Given the description of an element on the screen output the (x, y) to click on. 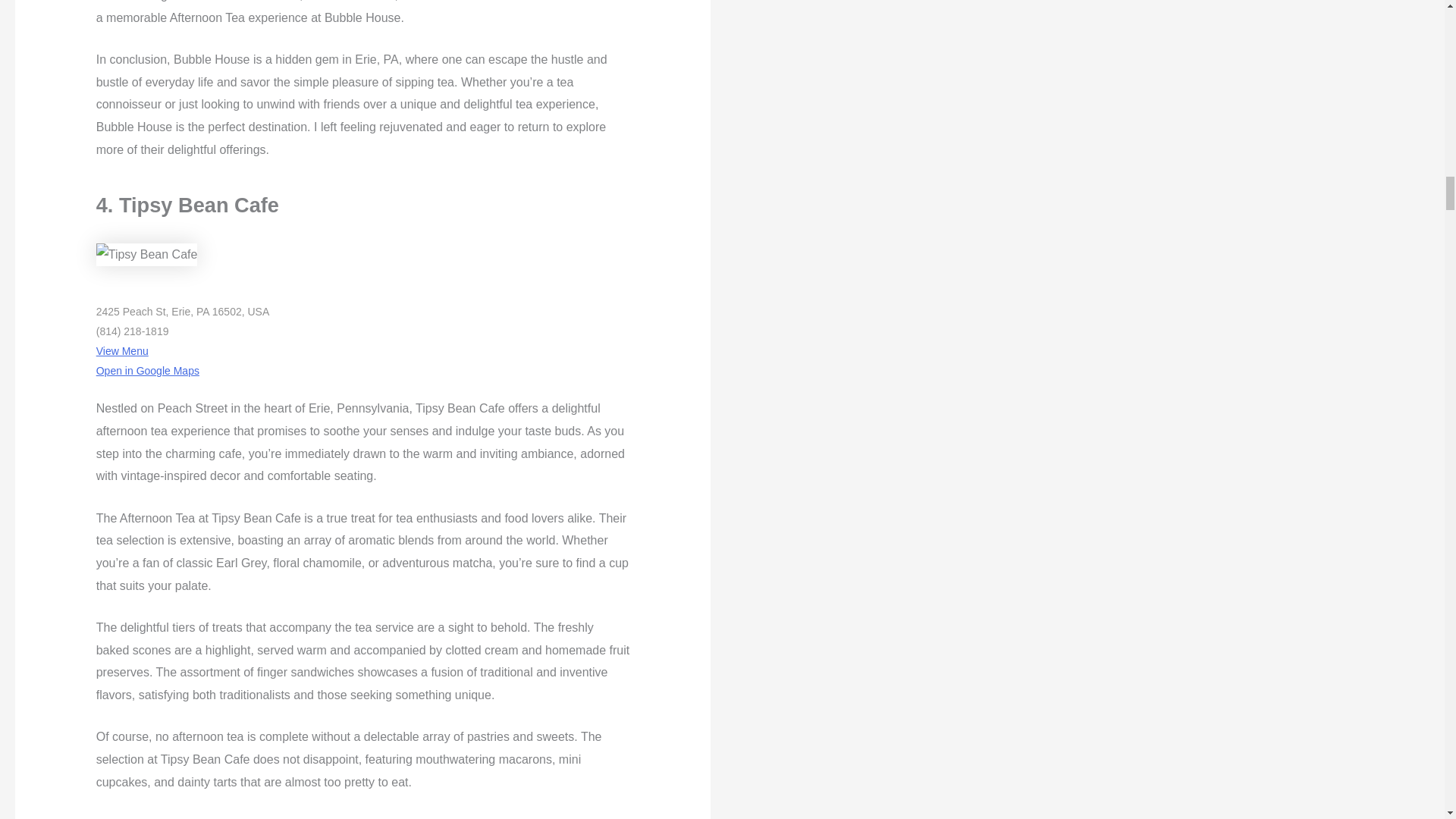
Open in Google Maps (147, 370)
View Menu (122, 350)
